Given the description of an element on the screen output the (x, y) to click on. 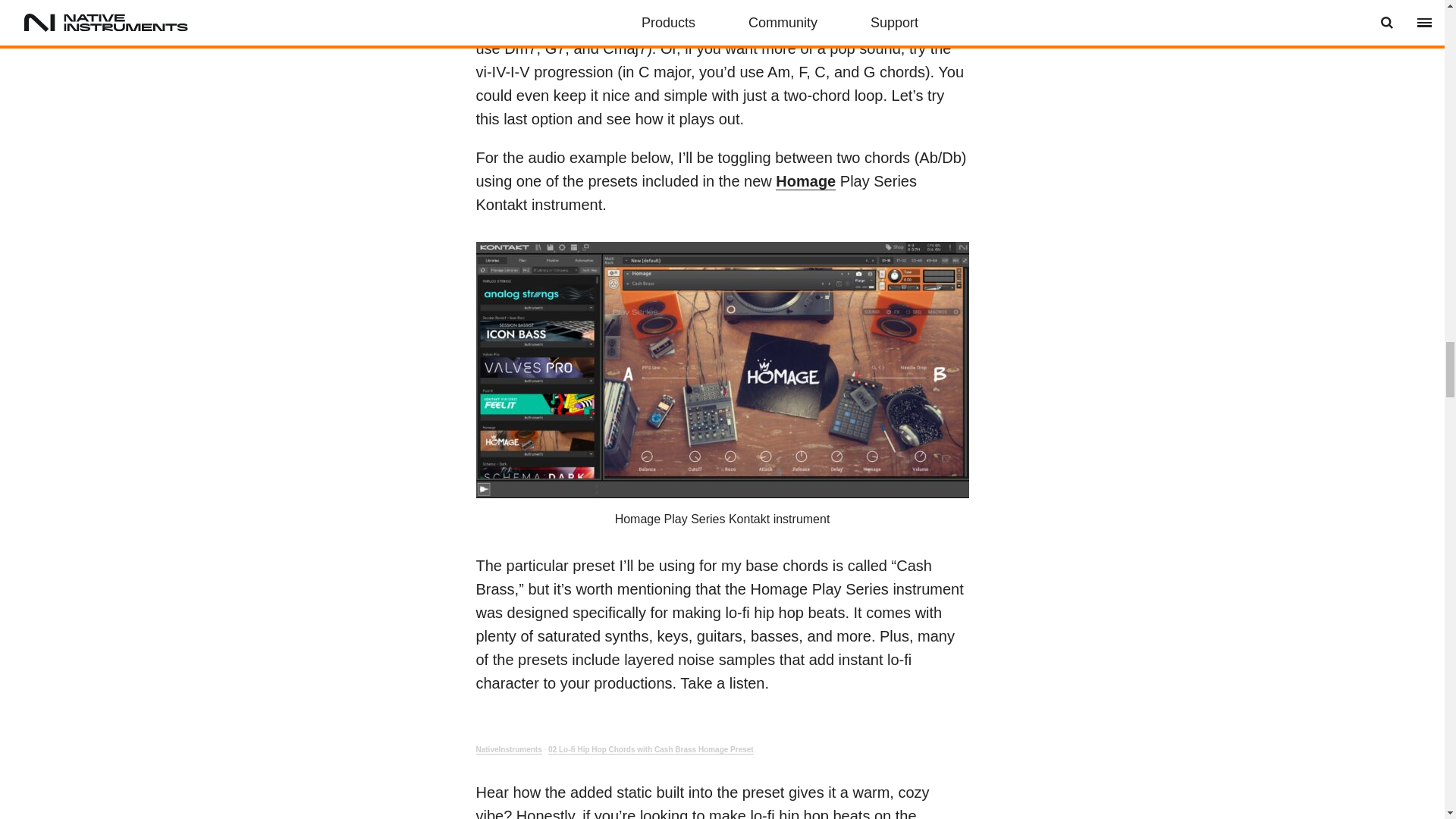
02 Lo-fi Hip Hop Chords with Cash Brass Homage Preset (651, 749)
NativeInstruments (508, 749)
